Given the description of an element on the screen output the (x, y) to click on. 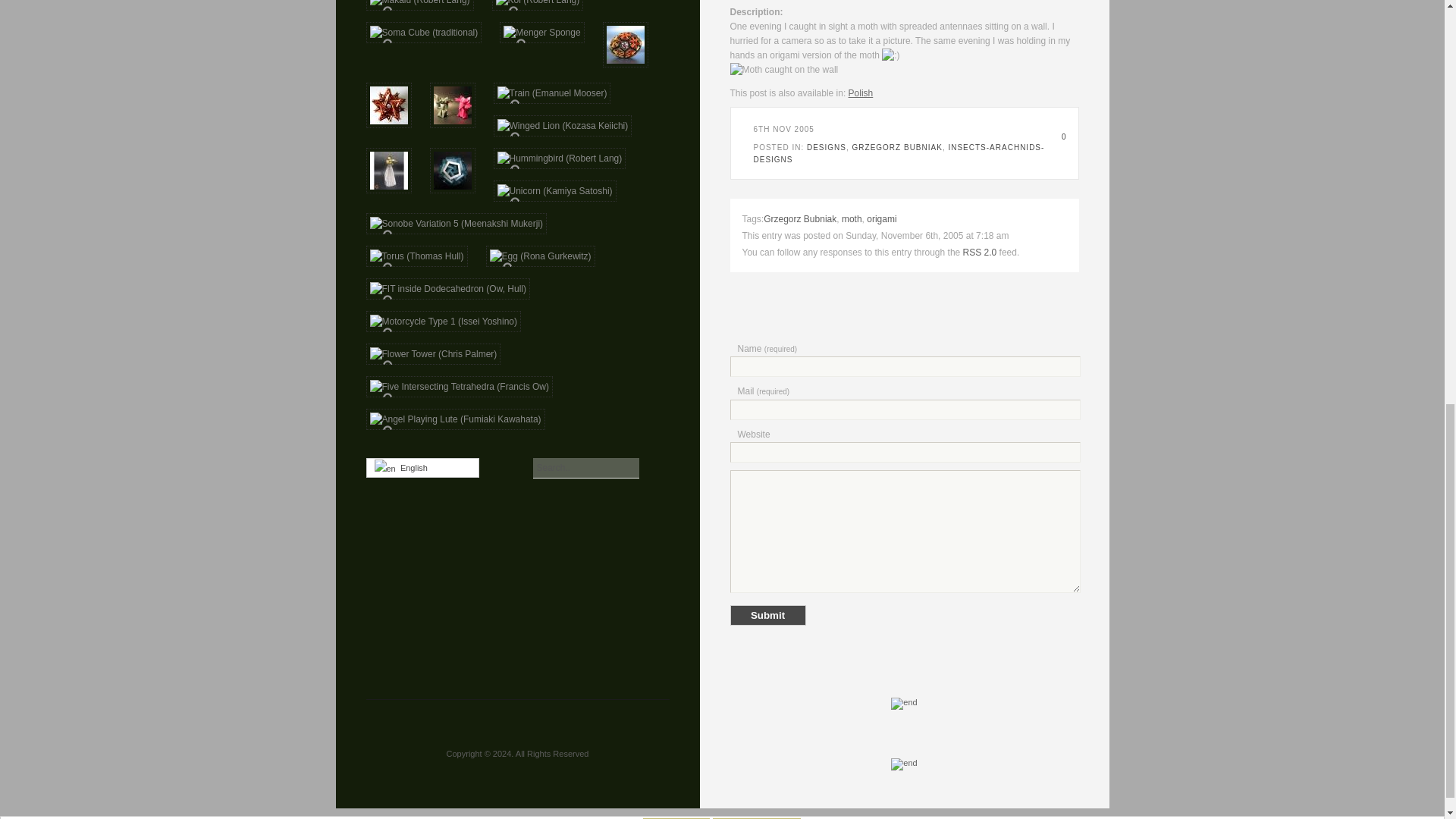
Comment on Moth (1058, 136)
Submit (767, 615)
View all posts in Grzegorz Bubniak (896, 147)
Moth caught on the wall (783, 69)
Search.. (585, 467)
View all posts in Insects-Arachnids-designs (899, 153)
View all posts in Designs (825, 147)
